Given the description of an element on the screen output the (x, y) to click on. 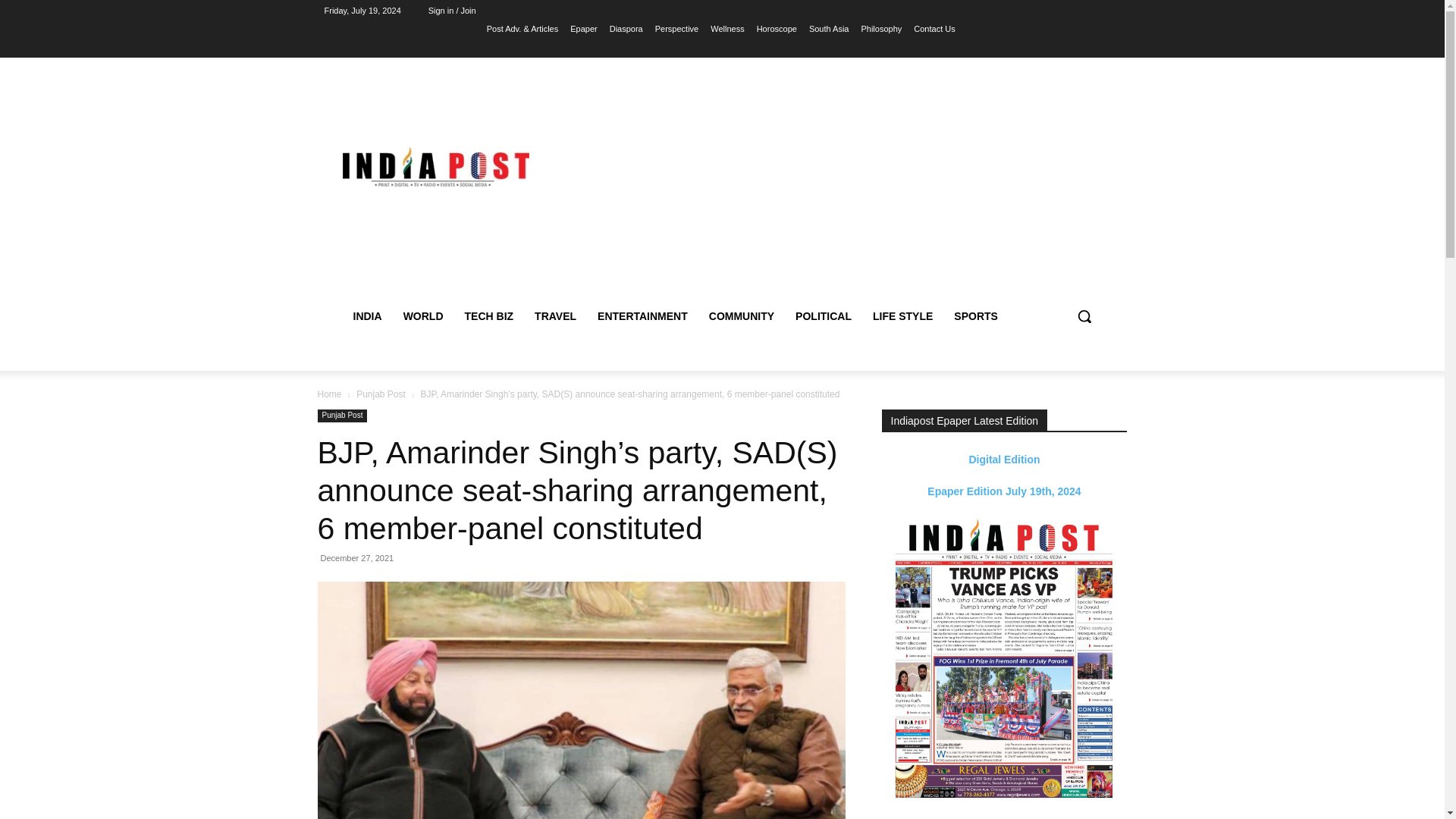
ENTERTAINMENT (642, 316)
Perspective (676, 28)
WORLD (423, 316)
Horoscope (776, 28)
TRAVEL (555, 316)
Diaspora (626, 28)
COMMUNITY (741, 316)
South Asia (828, 28)
Punjab Post (381, 394)
Home (328, 394)
Advertisement (855, 184)
Contact Us (934, 28)
Wellness (727, 28)
Philosophy (880, 28)
Epaper (583, 28)
